Given the description of an element on the screen output the (x, y) to click on. 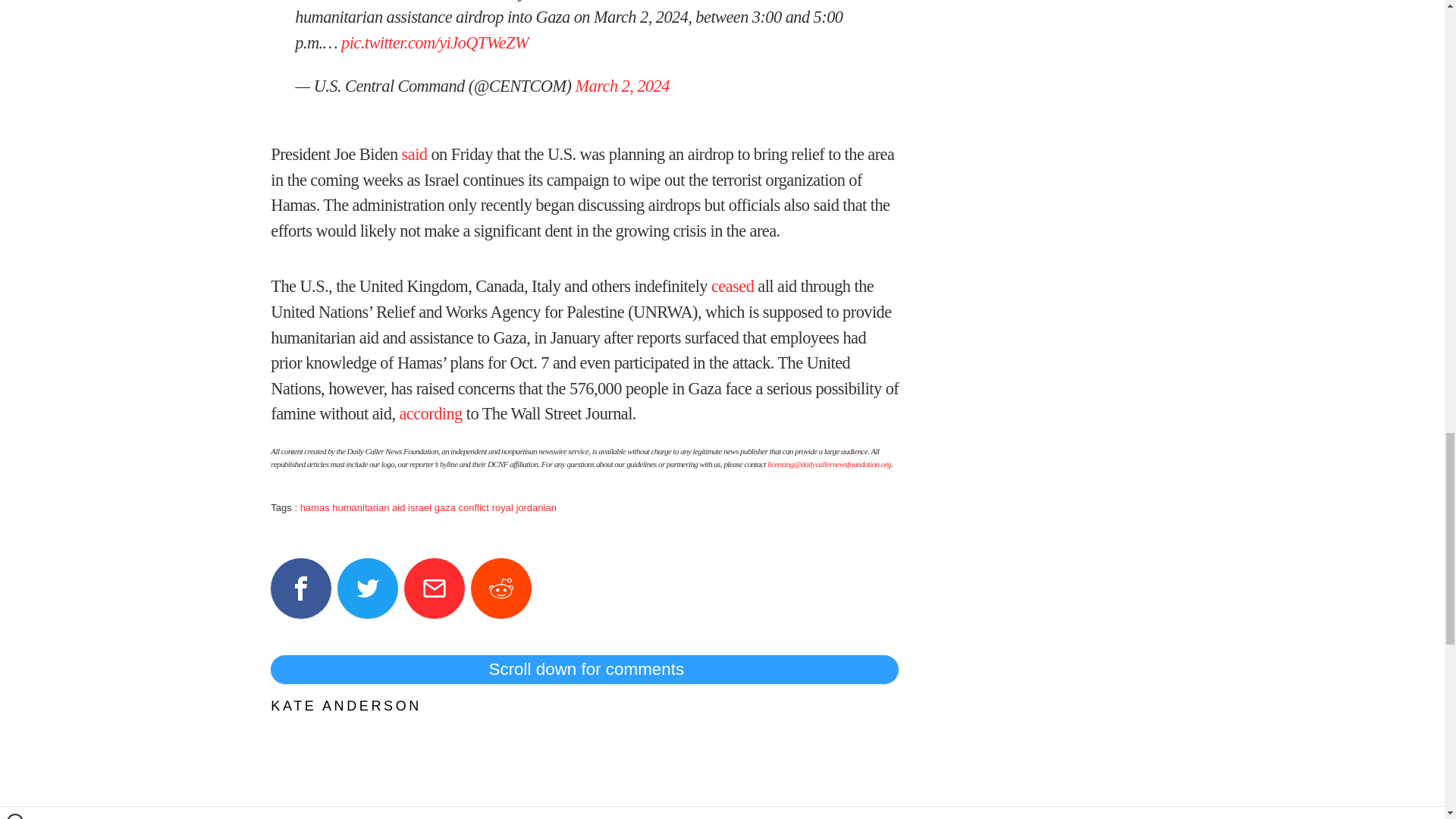
Scroll down for comments (584, 669)
